Given the description of an element on the screen output the (x, y) to click on. 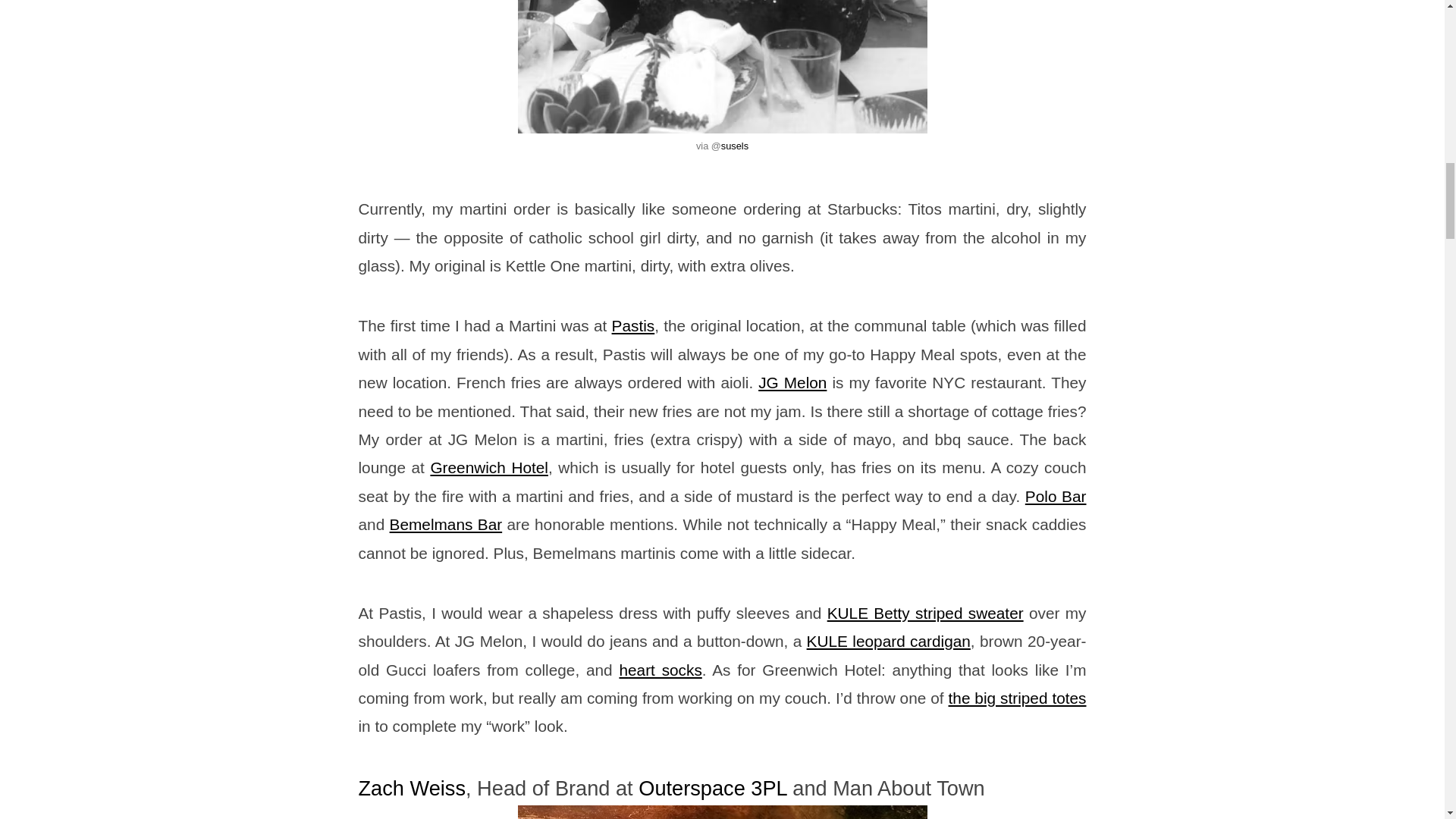
Outerspace 3PL (712, 788)
the big striped totes (1017, 697)
Polo Bar (1055, 496)
Greenwich Hotel (488, 466)
susels (734, 145)
JG Melon (792, 382)
KULE leopard cardigan (888, 641)
Zach Weiss (411, 788)
KULE Betty striped sweater (925, 612)
Pastis (633, 325)
